Given the description of an element on the screen output the (x, y) to click on. 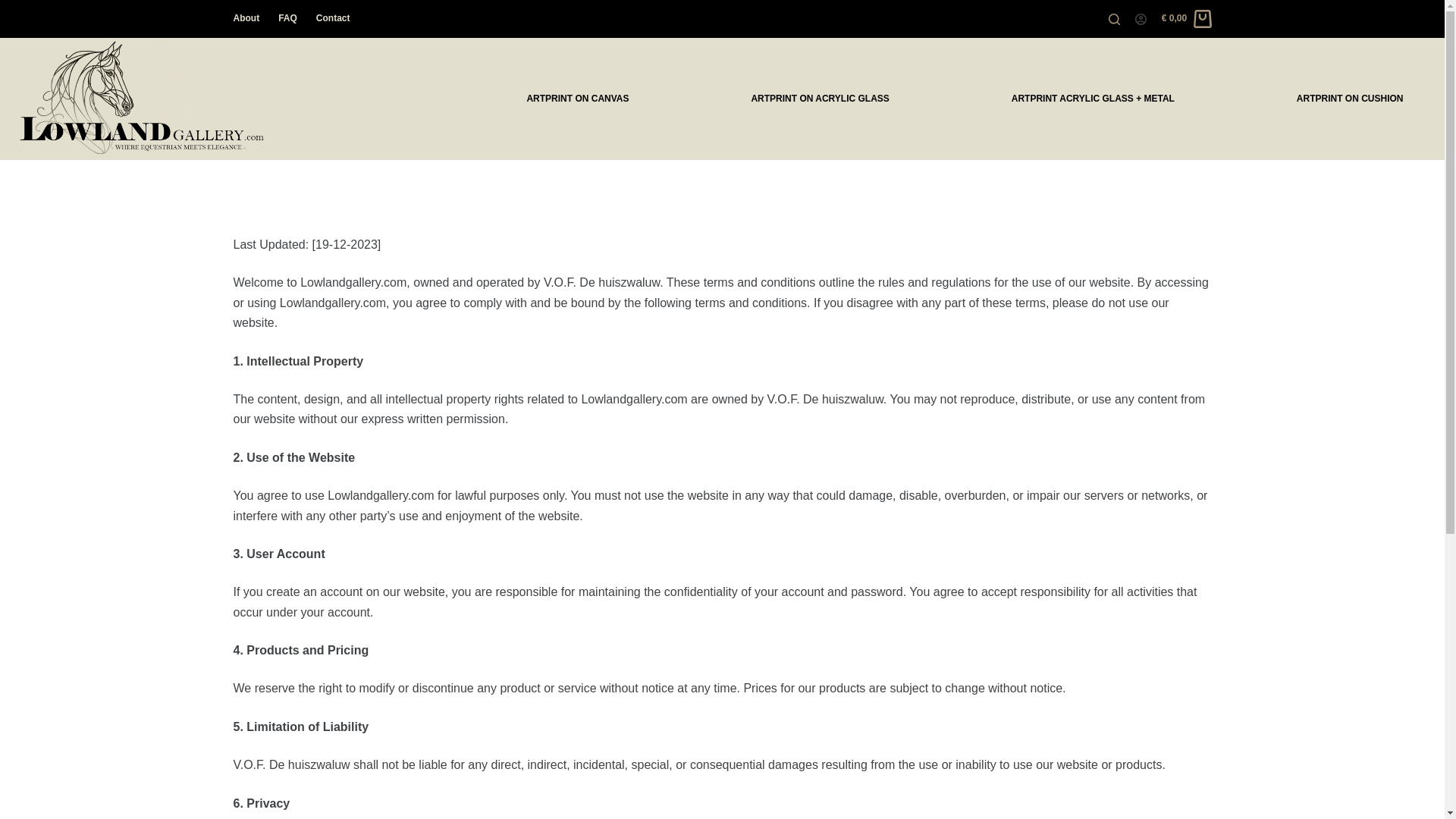
ARTPRINT ON CUSHION (1350, 99)
Skip to content (15, 7)
ARTPRINT ON CANVAS (577, 99)
FAQ (288, 18)
About (250, 18)
ARTPRINT ON ACRYLIC GLASS (819, 99)
Terms and Conditions (721, 213)
Contact (327, 18)
